Given the description of an element on the screen output the (x, y) to click on. 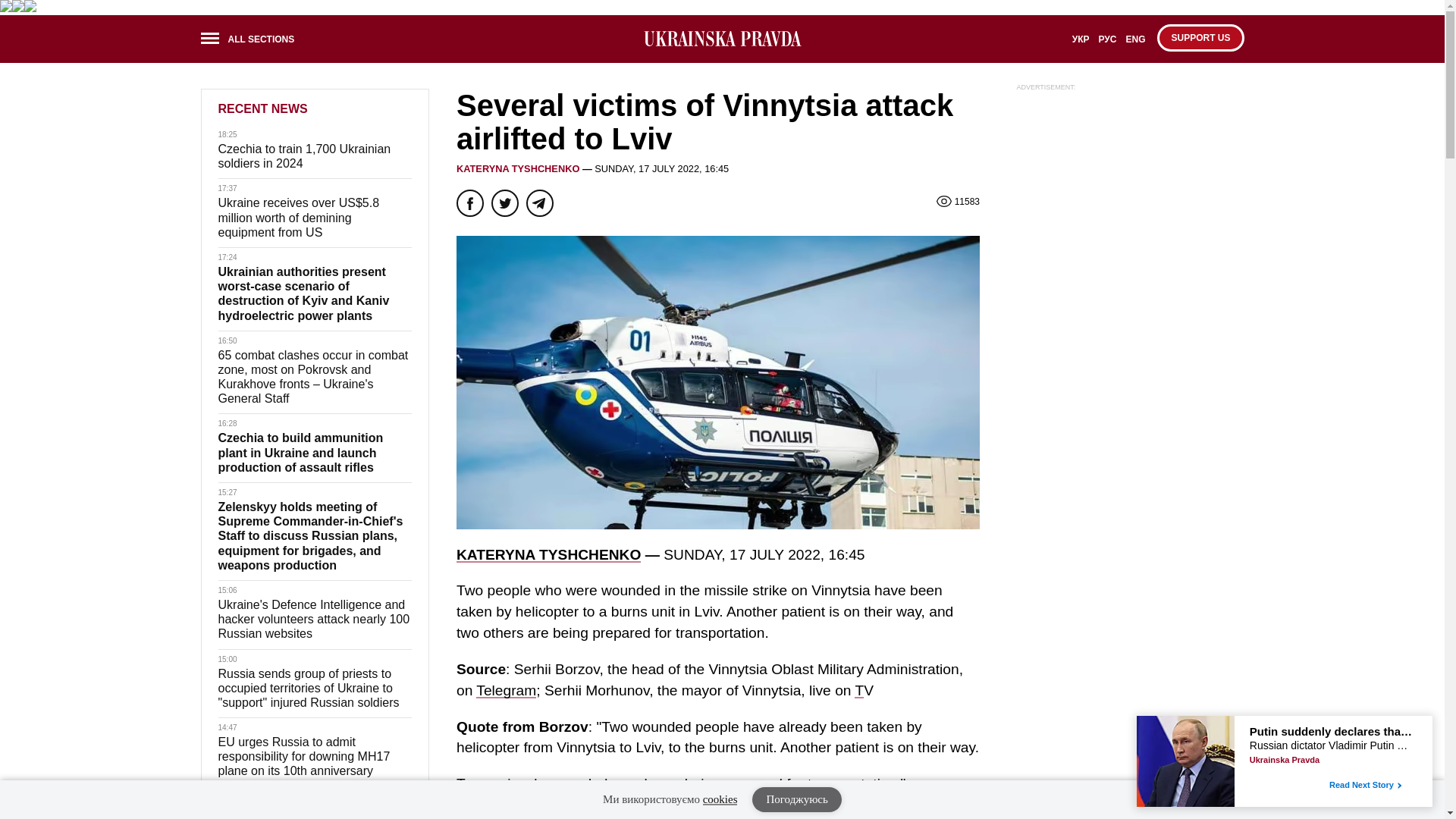
Telegram (505, 690)
Ukrainska pravda (722, 40)
ALL SECTIONS (251, 41)
SUPPORT US (1200, 37)
ENG (1135, 43)
KATERYNA TYSHCHENKO (548, 554)
Ukrainska pravda (722, 38)
KATERYNA TYSHCHENKO (518, 168)
